Given the description of an element on the screen output the (x, y) to click on. 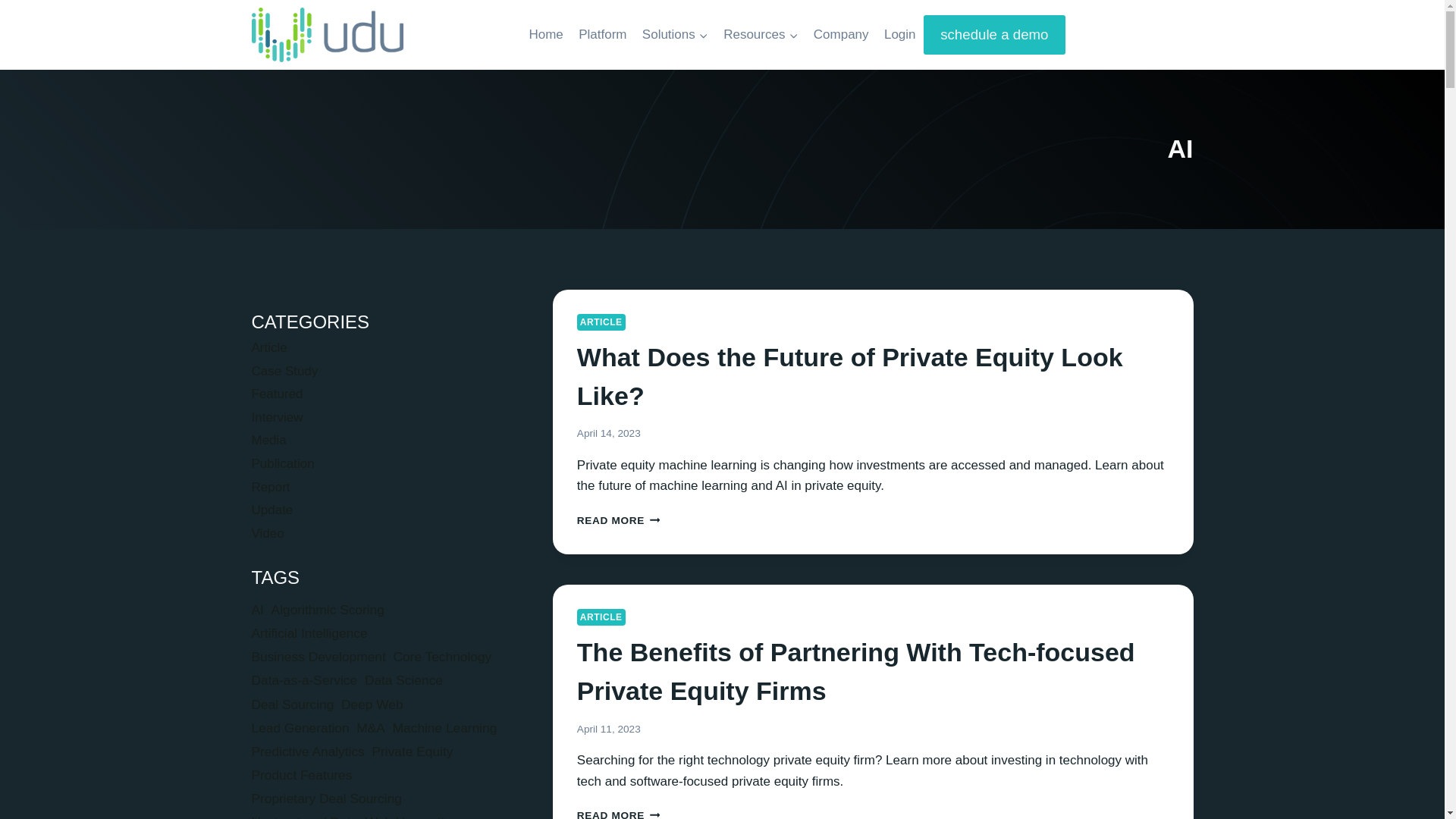
ARTICLE (601, 617)
Login (899, 34)
Company (841, 34)
Platform (618, 520)
Home (602, 34)
schedule a demo (545, 34)
What Does the Future of Private Equity Look Like?  (994, 34)
Solutions (849, 376)
